Given the description of an element on the screen output the (x, y) to click on. 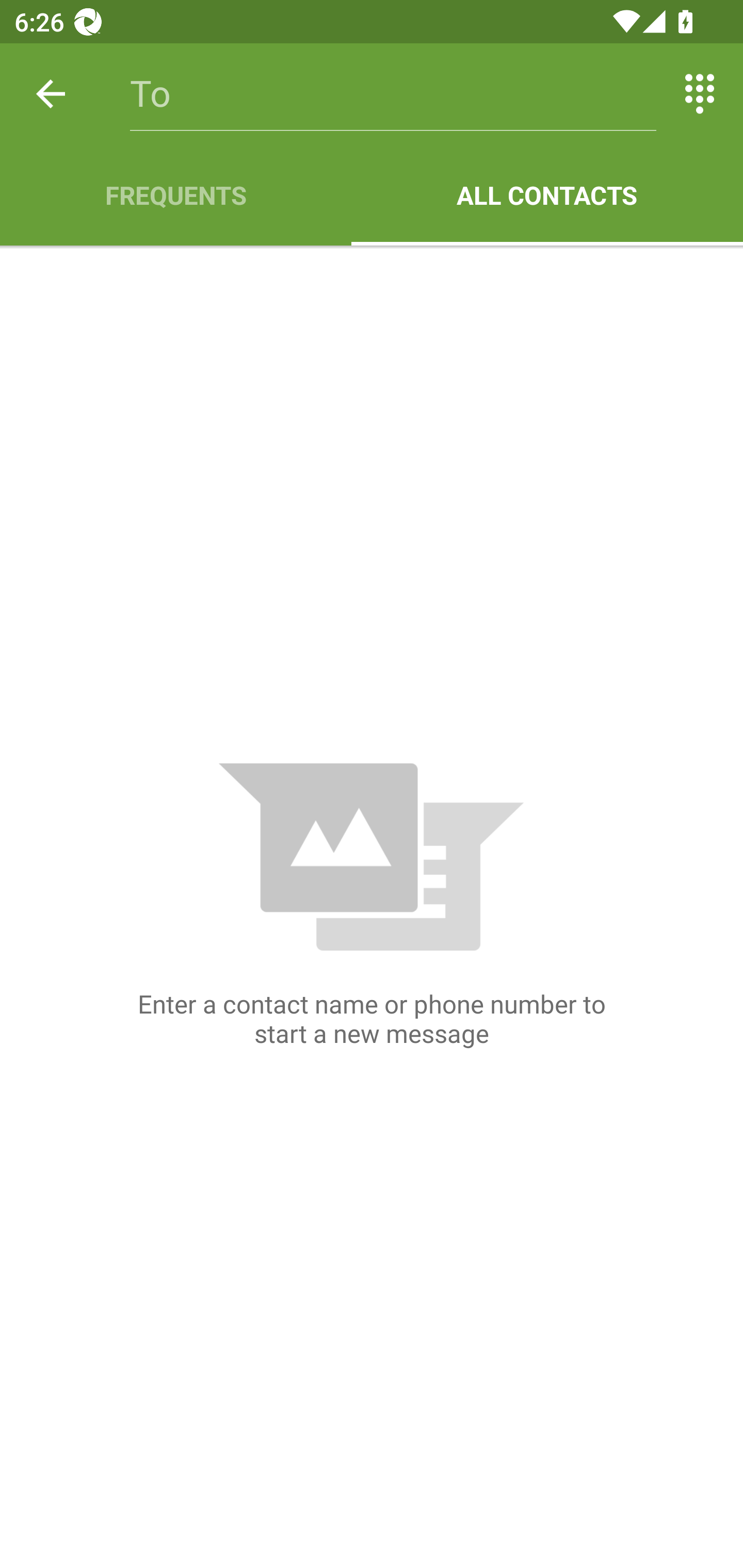
Back (50, 93)
Switch between entering text and numbers (699, 93)
To (393, 93)
FREQUENTS (175, 195)
ALL CONTACTS (547, 195)
